Given the description of an element on the screen output the (x, y) to click on. 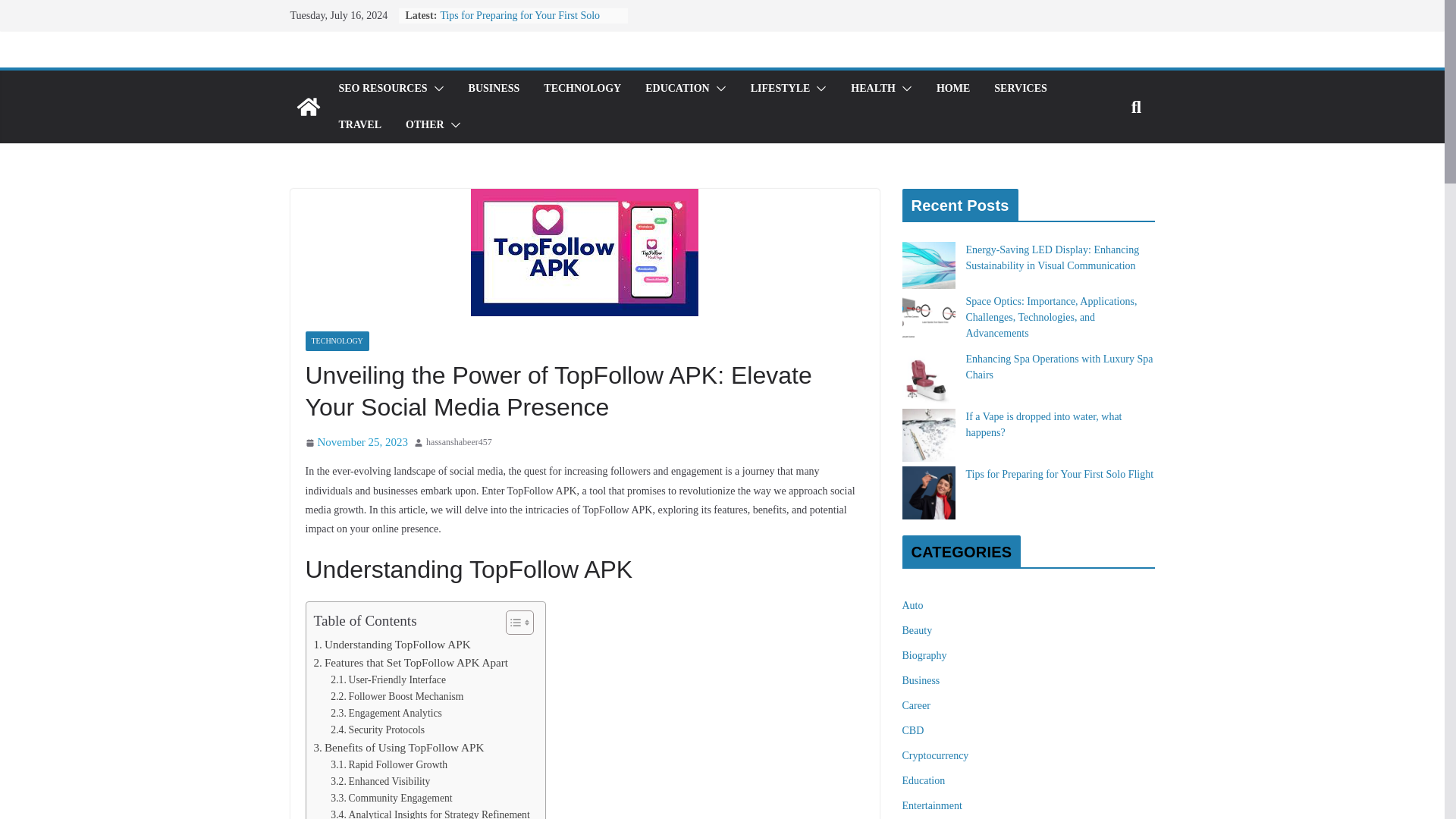
HOME (952, 88)
Rapid Follower Growth (388, 764)
Rapid Follower Growth (388, 764)
Understanding TopFollow APK (392, 644)
Features that Set TopFollow APK Apart (411, 662)
hassanshabeer457 (459, 442)
Tips for Preparing for Your First Solo Flight (519, 22)
Engagement Analytics (386, 713)
Enhanced Visibility (379, 781)
TECHNOLOGY (582, 88)
SERVICES (1020, 88)
Features that Set TopFollow APK Apart (411, 662)
Security Protocols (377, 729)
User-Friendly Interface (387, 679)
EDUCATION (677, 88)
